Given the description of an element on the screen output the (x, y) to click on. 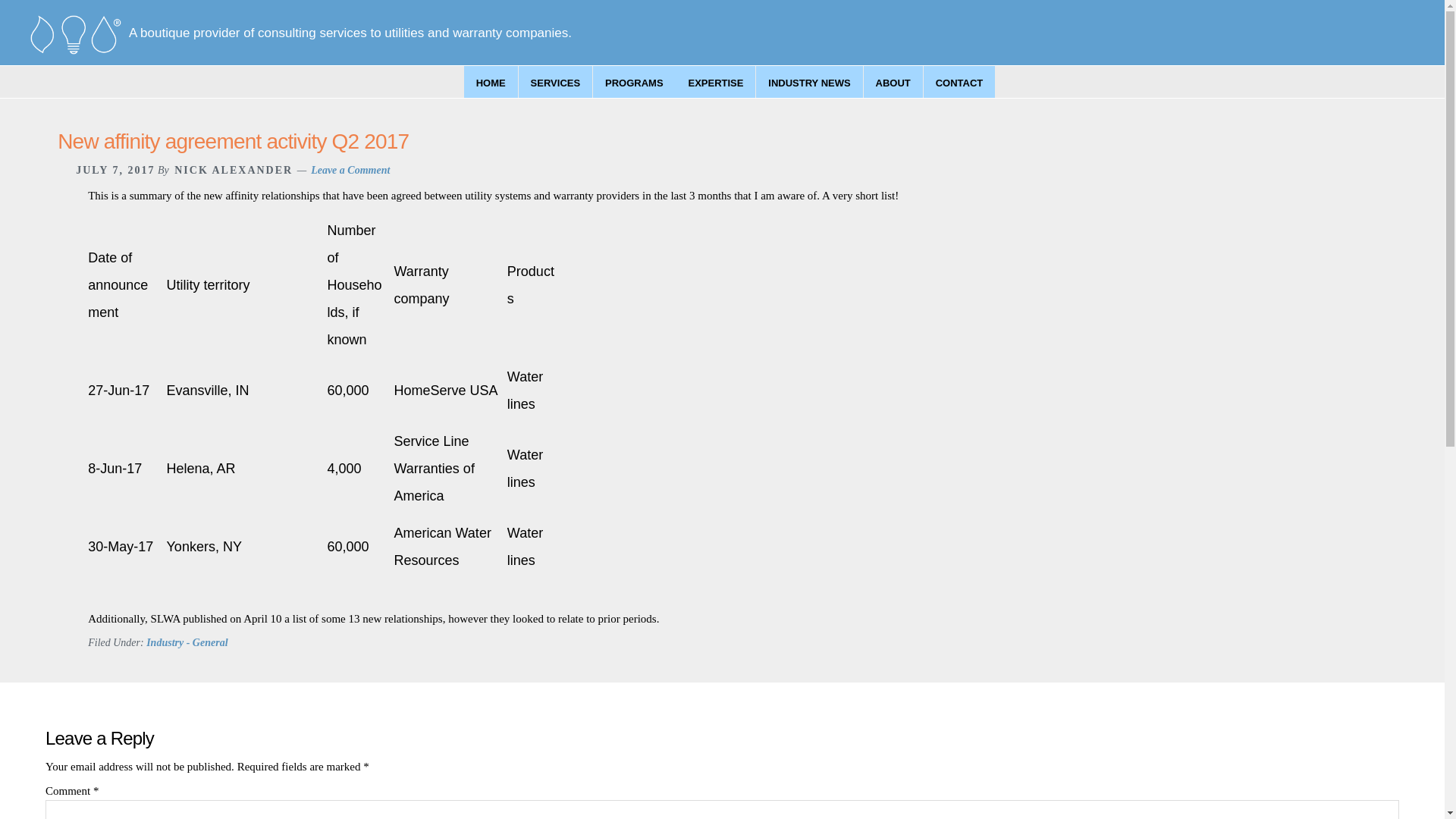
HOME (491, 81)
Leave a Comment (350, 170)
NICK ALEXANDER (233, 170)
SERVICES (555, 81)
Industry - General (187, 642)
INDUSTRY NEWS (808, 81)
PROGRAMS (633, 81)
ABOUT (893, 81)
EXPERTISE (715, 81)
CONTACT (959, 81)
